Given the description of an element on the screen output the (x, y) to click on. 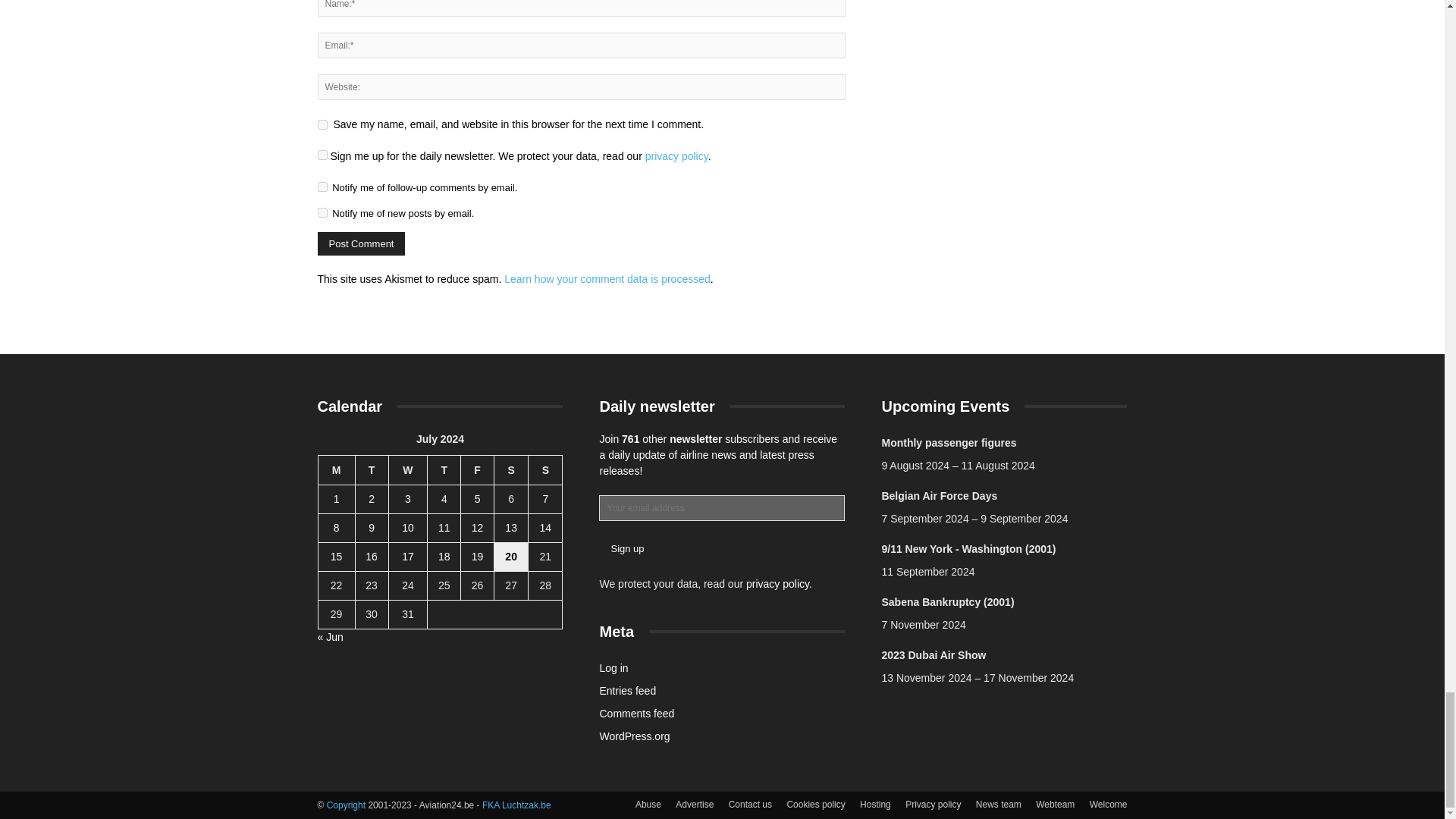
1 (321, 154)
Post Comment (360, 243)
yes (321, 124)
Sign up (626, 548)
subscribe (321, 212)
subscribe (321, 186)
